Given the description of an element on the screen output the (x, y) to click on. 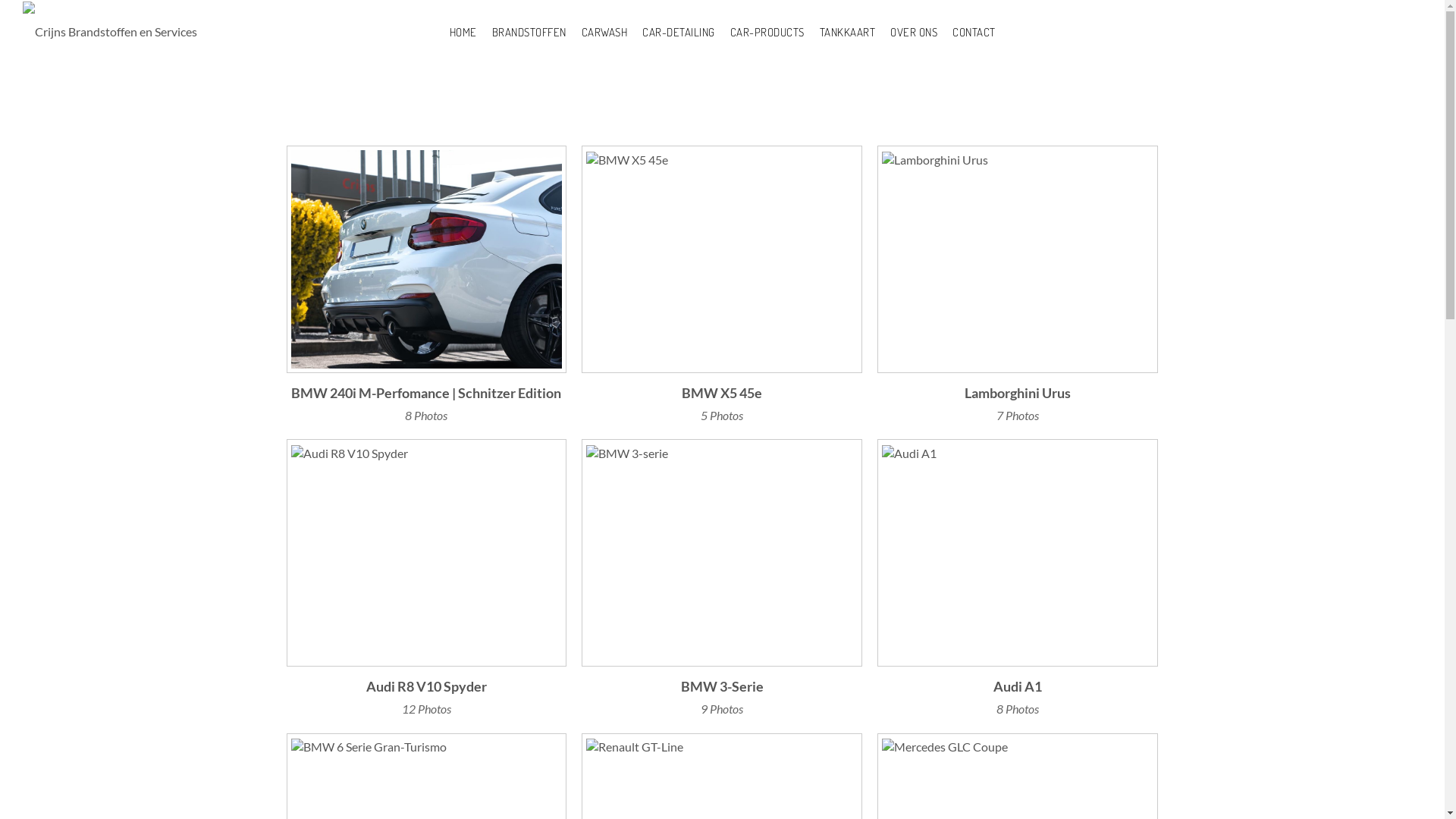
CONTACT Element type: text (973, 32)
Audi R8 V10 Spyder Element type: text (426, 685)
CAR-DETAILING Element type: text (678, 32)
BMW X5 45e Element type: text (721, 392)
Audi A1 Element type: text (1017, 685)
OVER ONS Element type: text (913, 32)
CAR-PRODUCTS Element type: text (766, 32)
CARWASH Element type: text (603, 32)
BRANDSTOFFEN Element type: text (528, 32)
Lamborghini Urus Element type: text (1017, 392)
HOME Element type: text (462, 32)
BMW 3-Serie Element type: text (721, 685)
BMW 240i M-Perfomance | Schnitzer Edition Element type: text (426, 392)
TANKKAART Element type: text (847, 32)
